Given the description of an element on the screen output the (x, y) to click on. 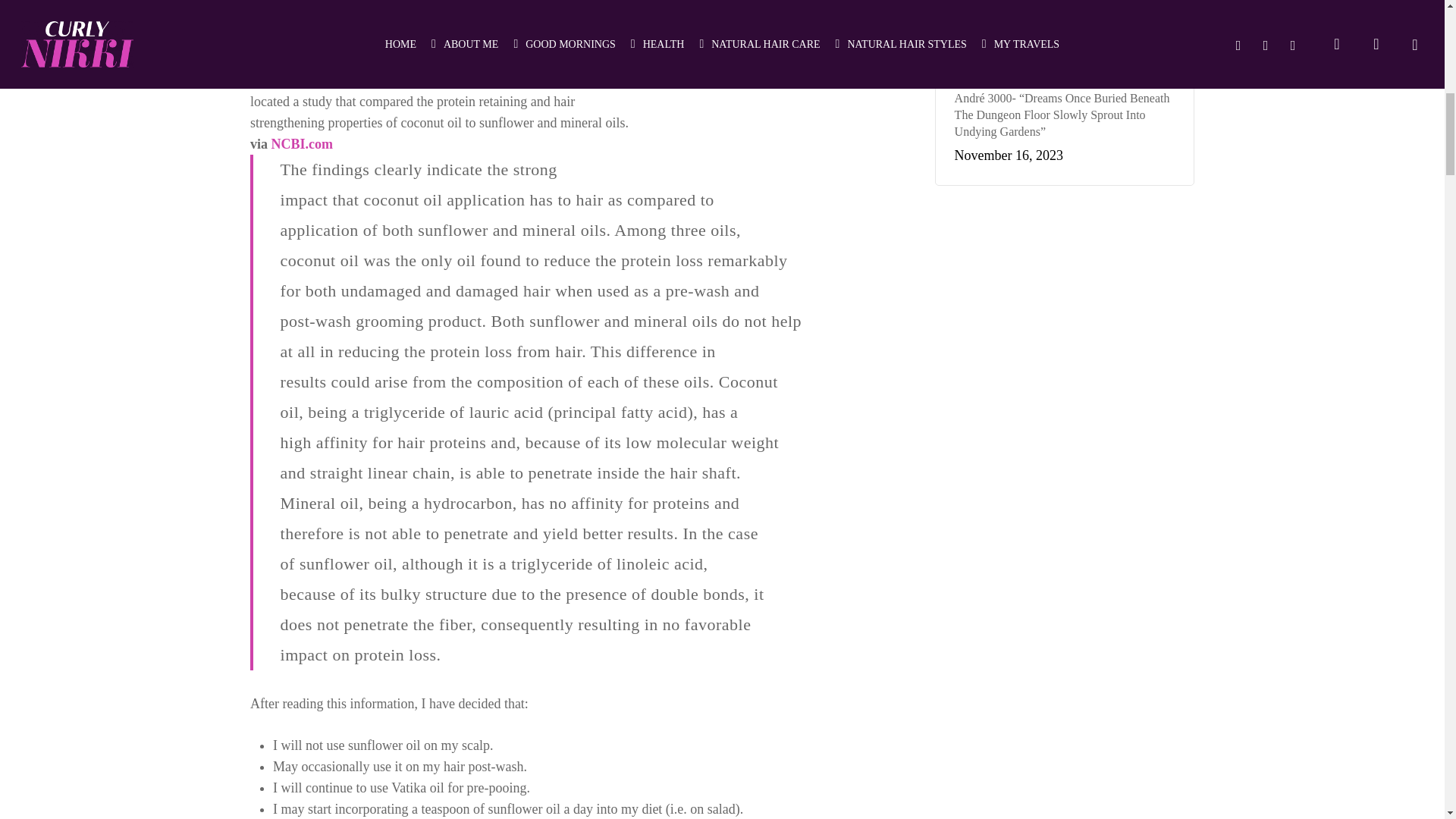
NCBI: Effect of mineral oil, sunflower oil and coconut oil (301, 143)
